Given the description of an element on the screen output the (x, y) to click on. 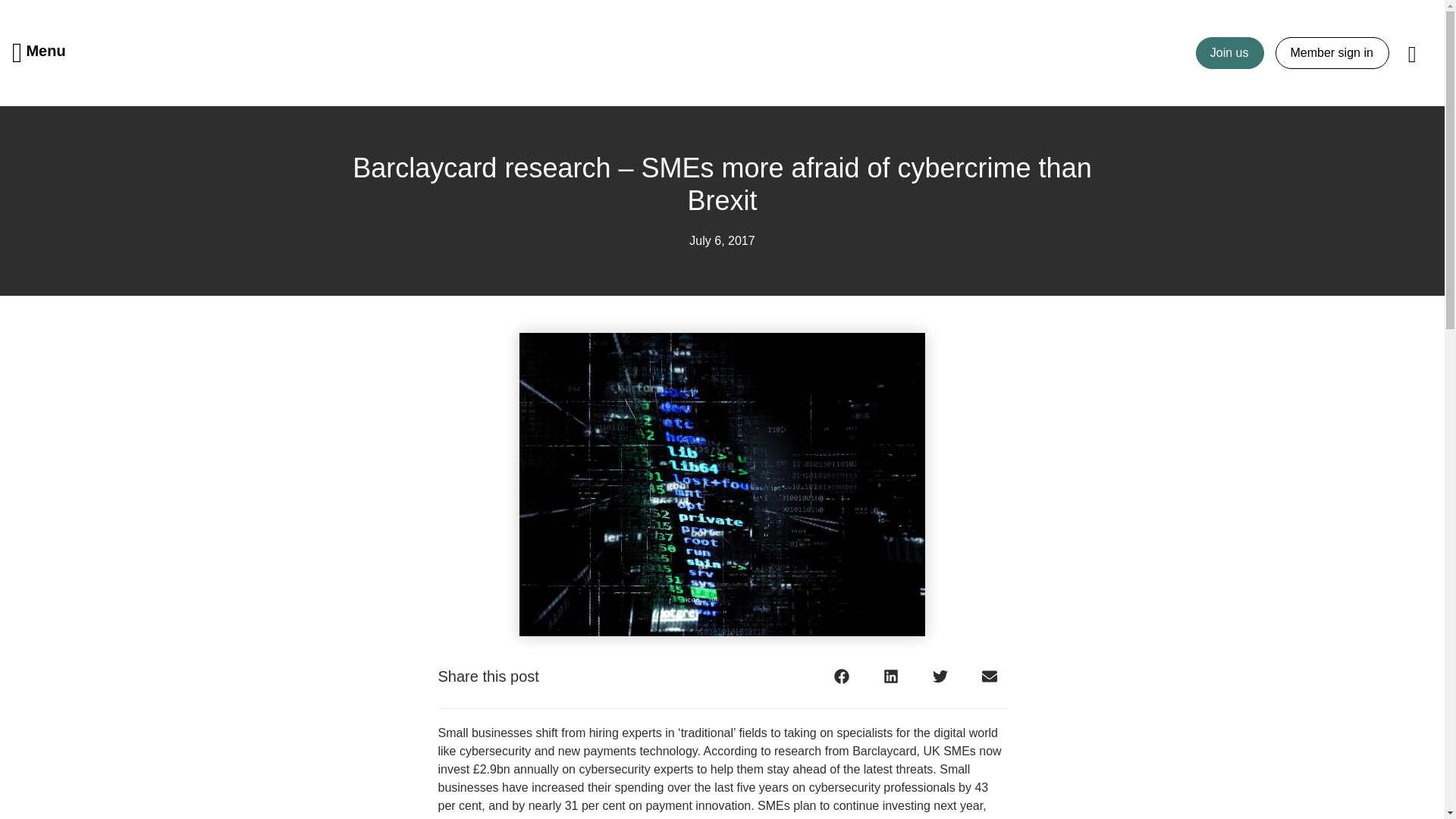
Join us (1230, 51)
July 6, 2017 (721, 240)
Menu (39, 52)
Member sign in (1332, 51)
